Given the description of an element on the screen output the (x, y) to click on. 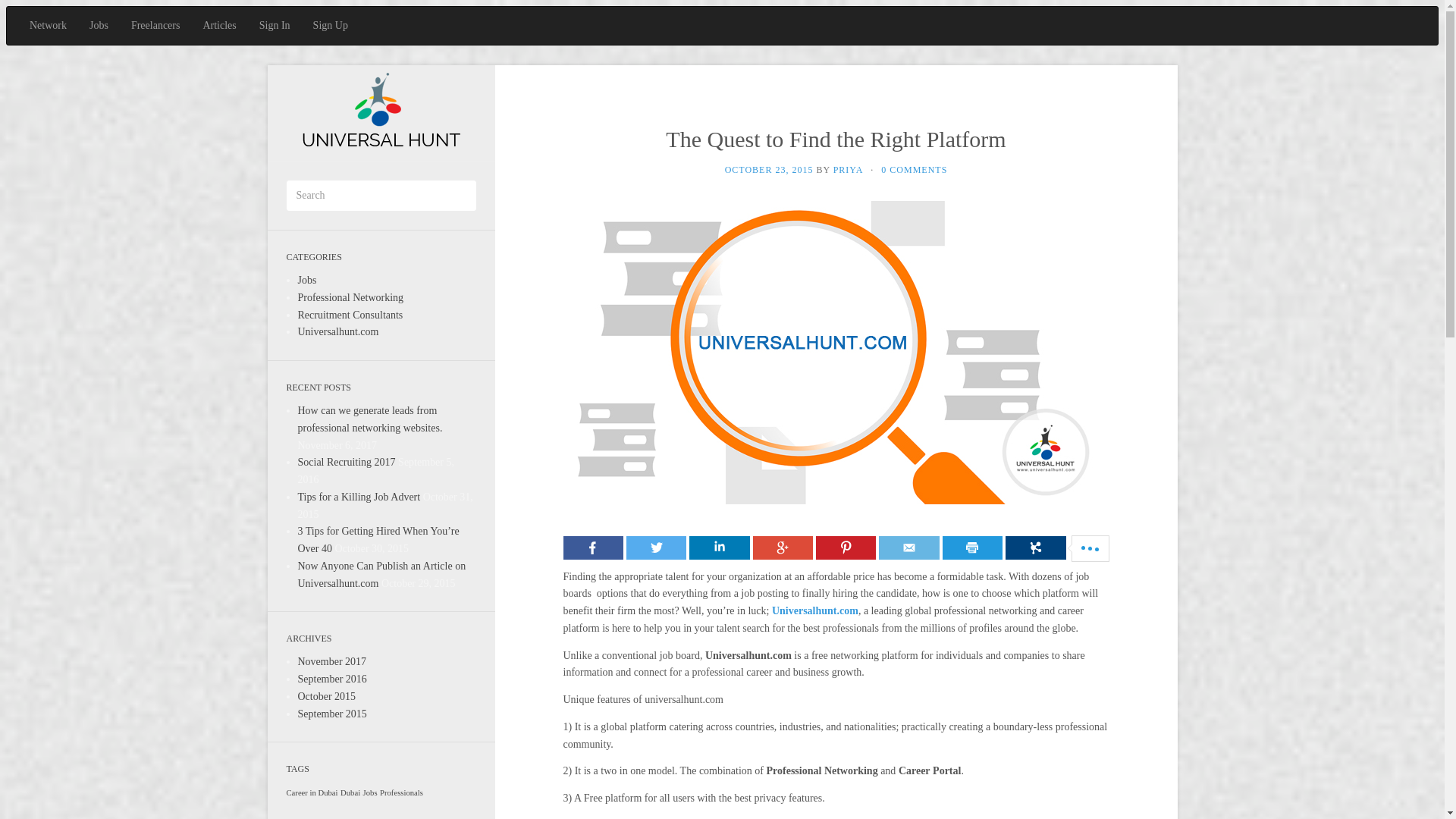
Universal Hunt (380, 112)
Network (47, 25)
Universalhunt.com (337, 331)
Jobs (98, 25)
Tips for a Killing Job Advert (358, 496)
0 COMMENTS (913, 169)
Sign Up (330, 25)
more... (1035, 546)
1 topic (349, 792)
Freelancers (155, 25)
